Given the description of an element on the screen output the (x, y) to click on. 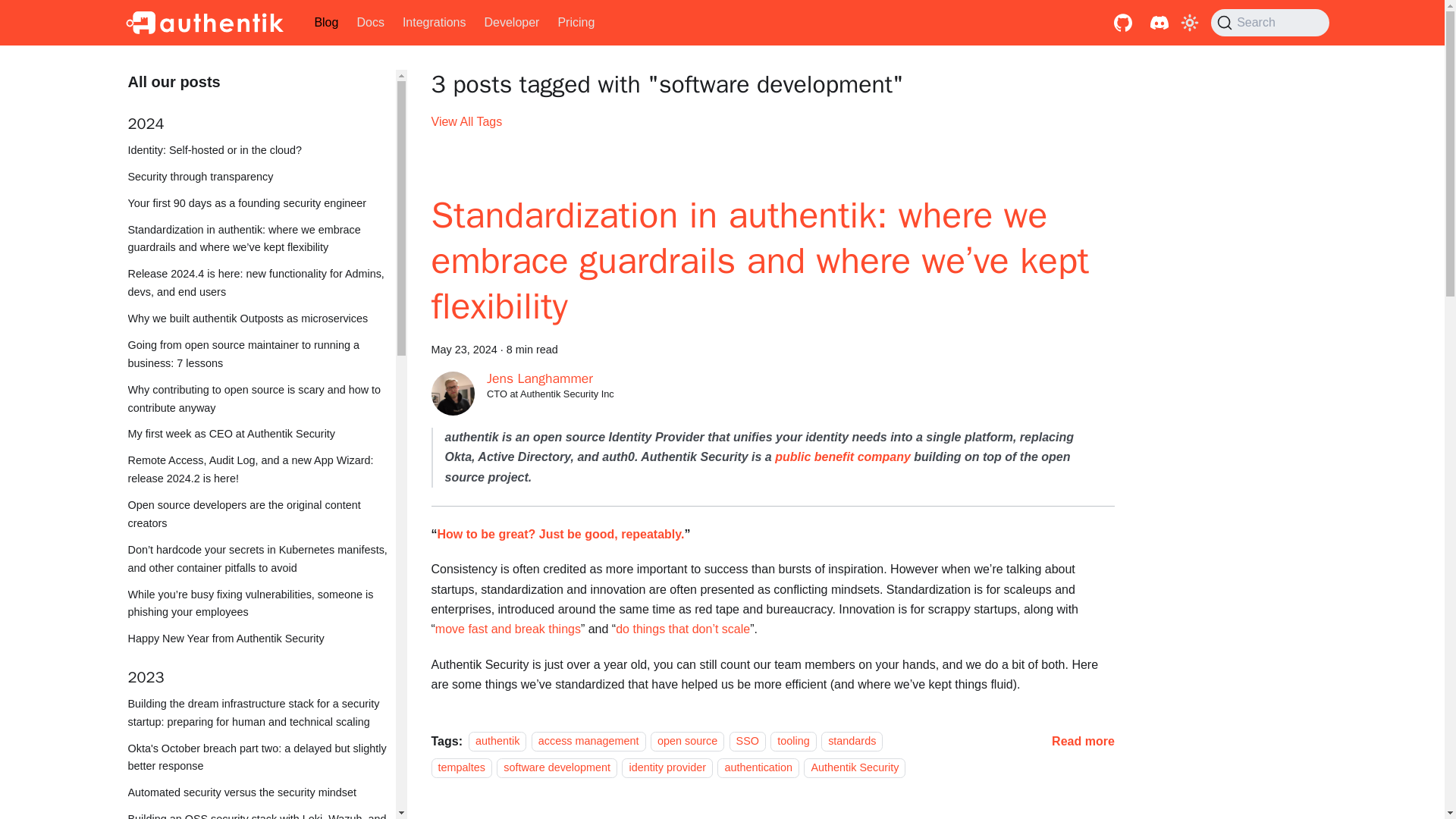
Developer (511, 22)
Identity: Self-hosted or in the cloud? (261, 150)
Security through transparency (261, 177)
Search (1269, 22)
Open source developers are the original content creators (261, 514)
Automated security versus the security mindset (261, 792)
Happy New Year from Authentik Security (261, 638)
Why we built authentik Outposts as microservices (261, 319)
